Given the description of an element on the screen output the (x, y) to click on. 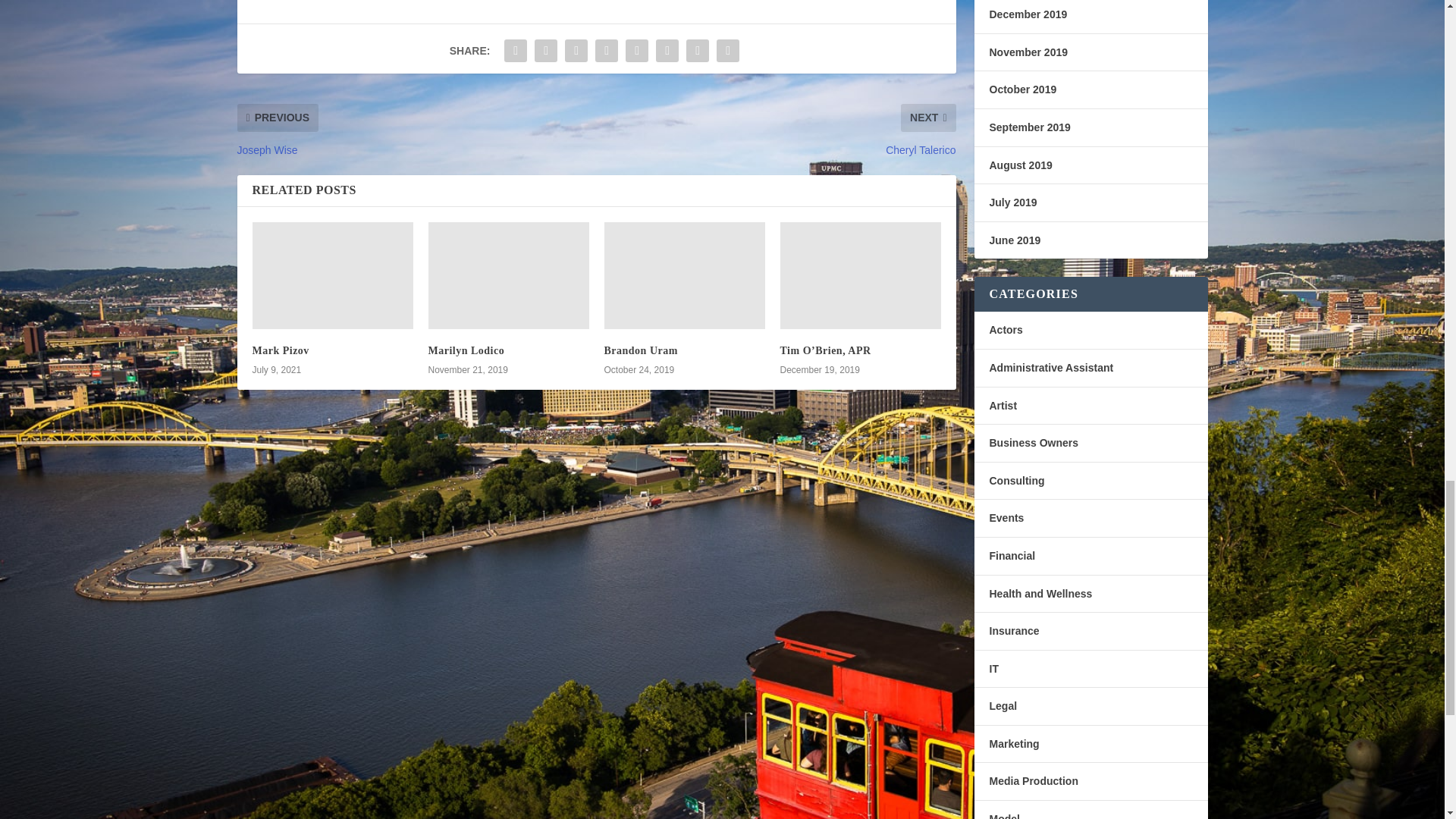
Marilyn Lodico (465, 350)
Share "Stephanie Wijkstrom" via LinkedIn (636, 51)
Share "Stephanie Wijkstrom" via Tumblr (575, 51)
Share "Stephanie Wijkstrom" via Buffer (667, 51)
Share "Stephanie Wijkstrom" via Pinterest (606, 51)
Share "Stephanie Wijkstrom" via Facebook (515, 51)
Share "Stephanie Wijkstrom" via Stumbleupon (697, 51)
Share "Stephanie Wijkstrom" via Twitter (545, 51)
Mark Pizov (279, 350)
Share "Stephanie Wijkstrom" via Email (727, 51)
